Given the description of an element on the screen output the (x, y) to click on. 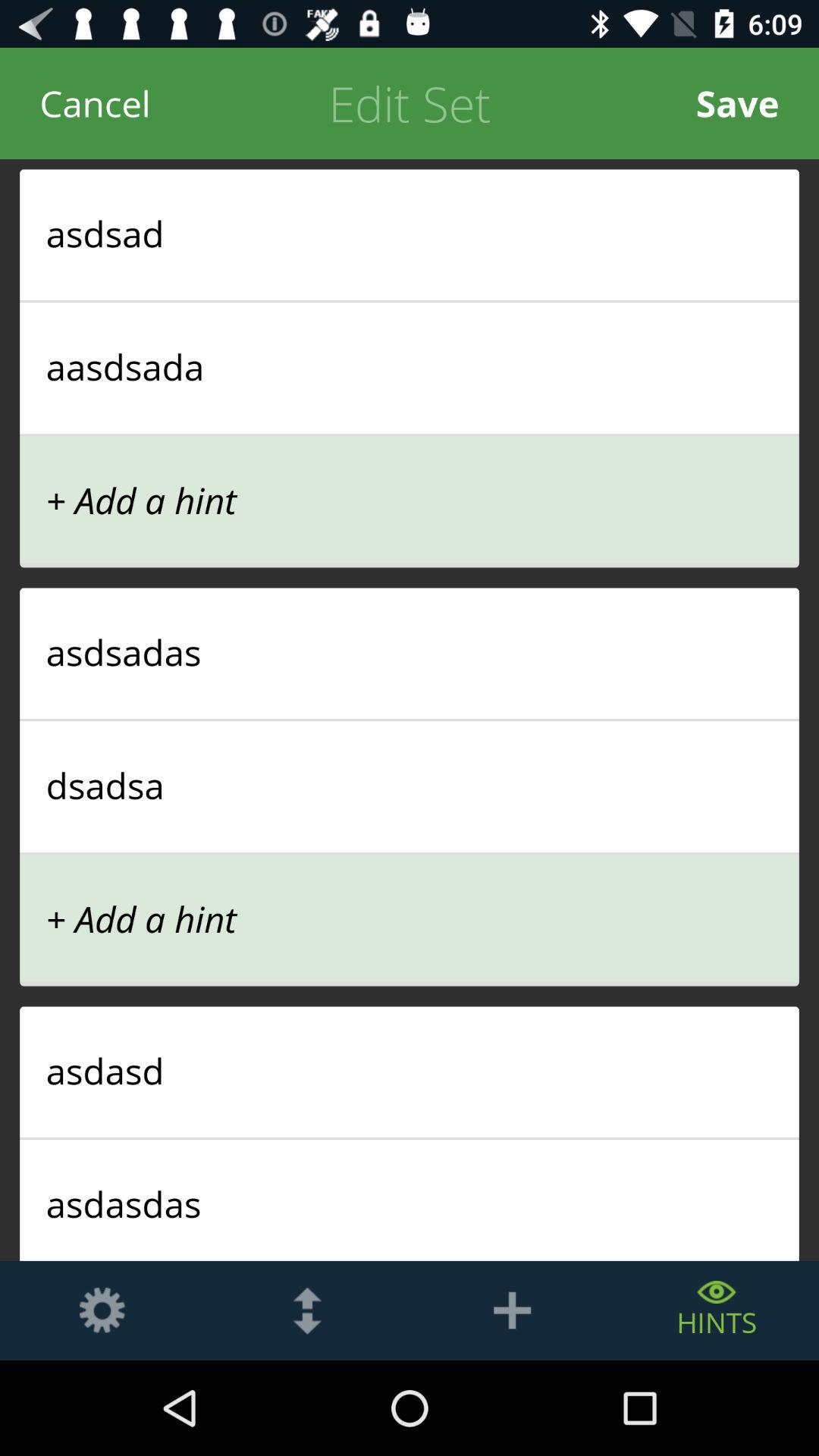
tap item below cancel item (409, 233)
